Given the description of an element on the screen output the (x, y) to click on. 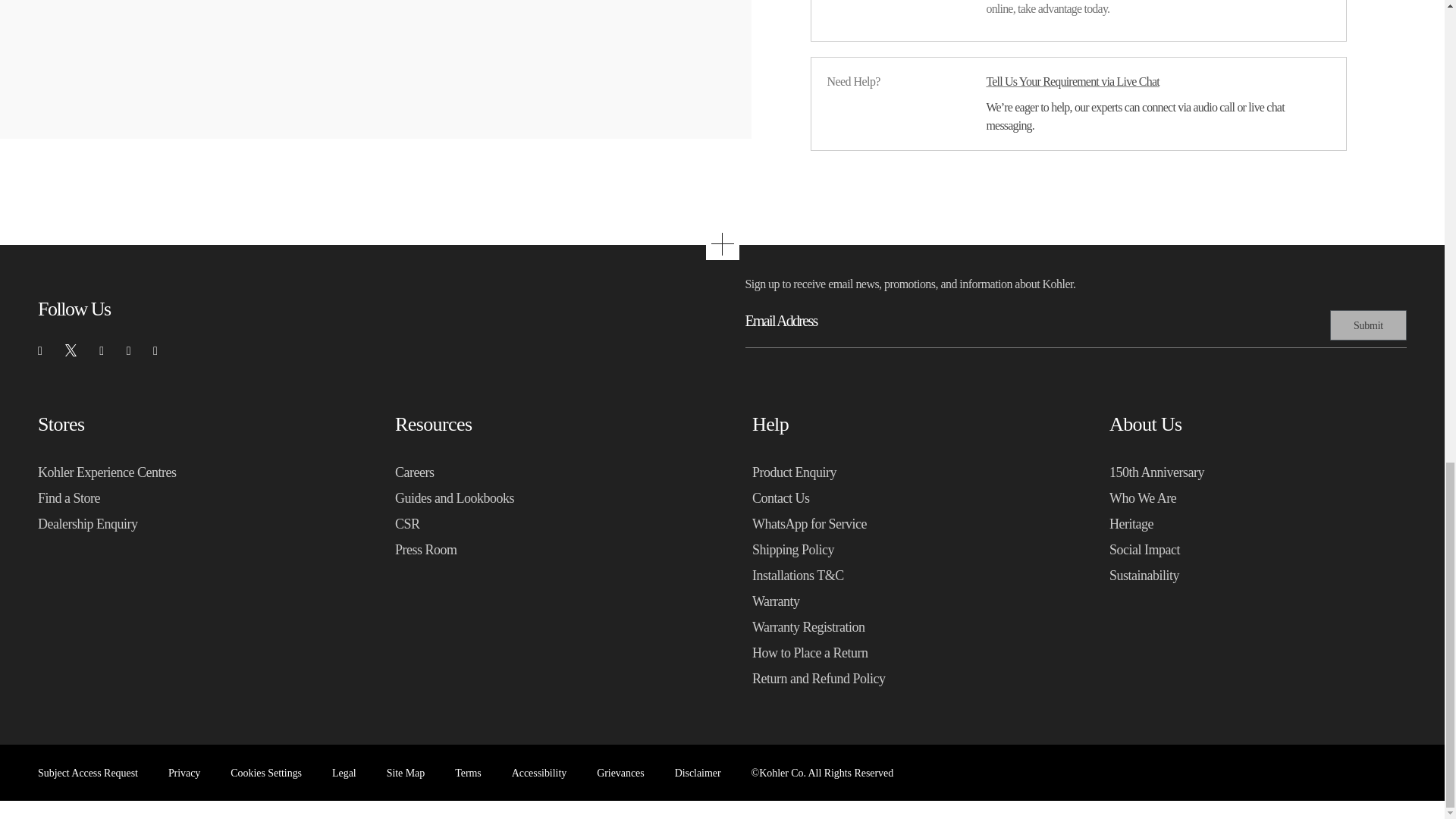
Twitter (70, 349)
Instagram (101, 350)
LinkedIn (154, 350)
YouTube (128, 350)
Facebook (39, 350)
